Given the description of an element on the screen output the (x, y) to click on. 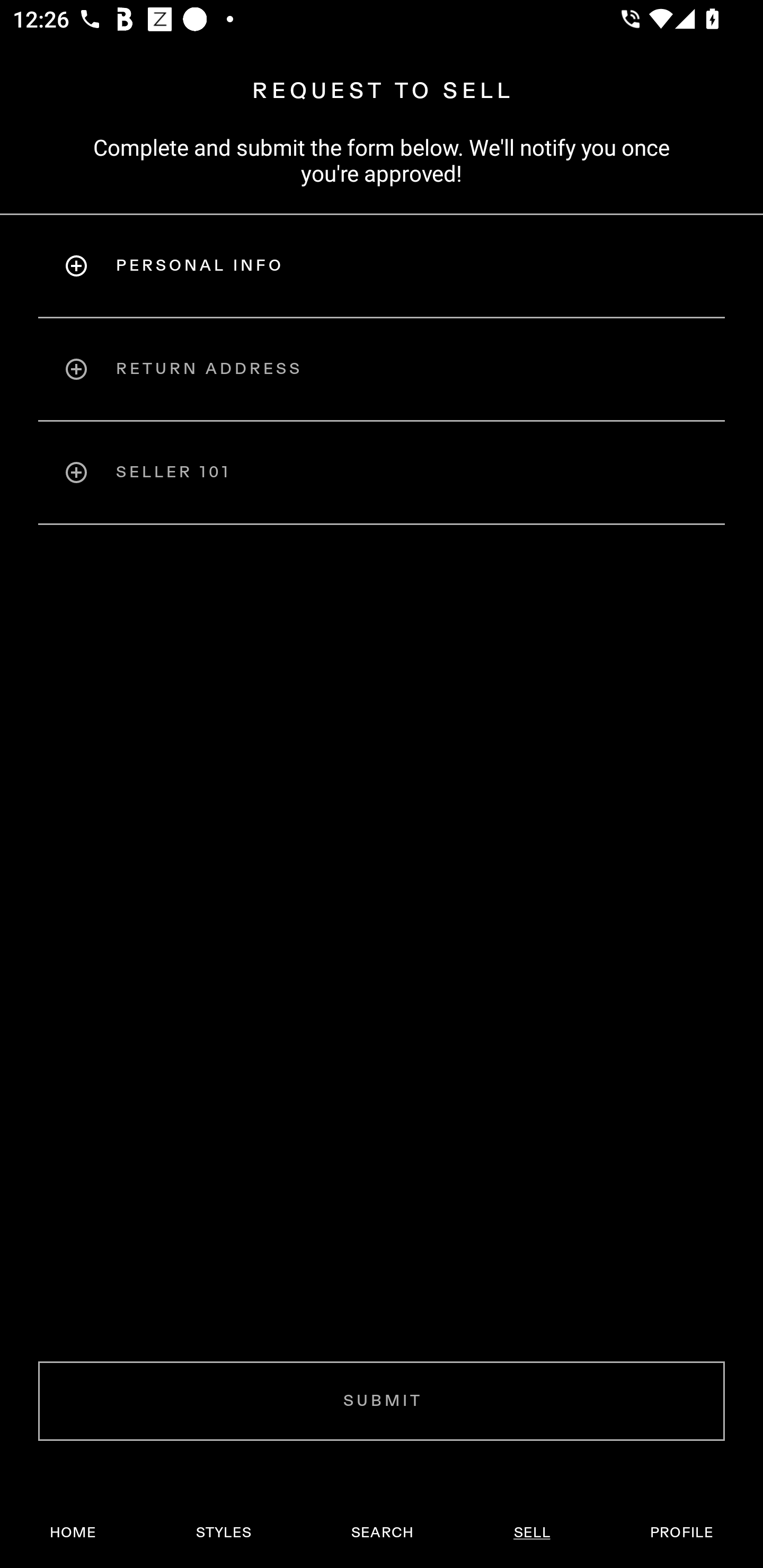
PERSONAL INFO (381, 265)
RETURN ADDRESS (381, 369)
SELLER 101 (381, 472)
SUBMIT (381, 1400)
HOME (72, 1532)
STYLES (222, 1532)
SEARCH (381, 1532)
SELL (531, 1532)
PROFILE (681, 1532)
